Given the description of an element on the screen output the (x, y) to click on. 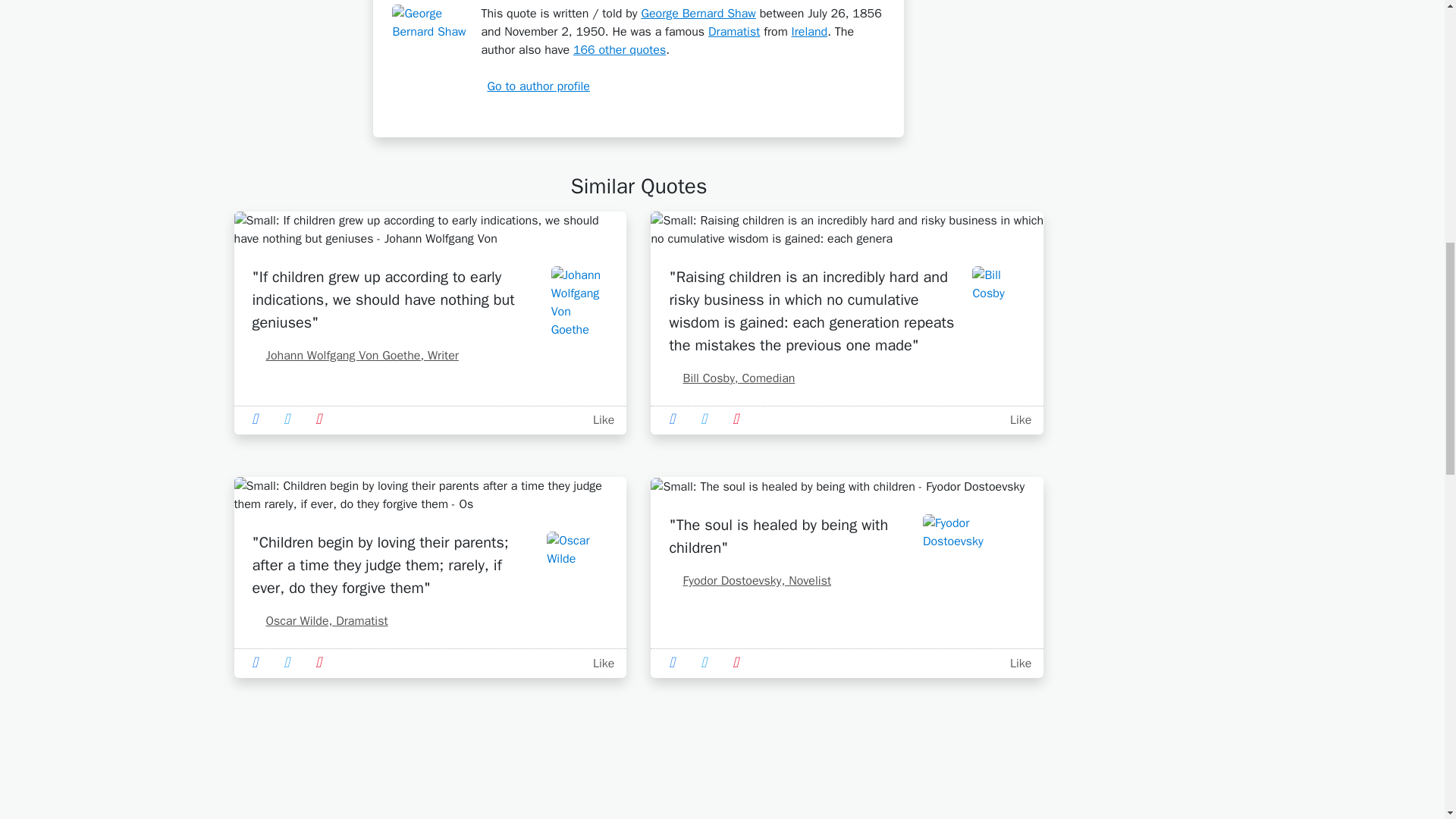
Fyodor Dostoevsky, Novelist (749, 580)
Go to author profile (534, 86)
Oscar Wilde, Dramatist (319, 620)
Bill Cosby, Comedian (731, 377)
Johann Wolfgang Von Goethe, Writer (354, 354)
Ireland (810, 31)
Vote on the best quotes (599, 419)
166 other quotes (619, 49)
George Bernard Shaw (697, 13)
Vote on the best quotes (1017, 419)
Dramatist (733, 31)
